Given the description of an element on the screen output the (x, y) to click on. 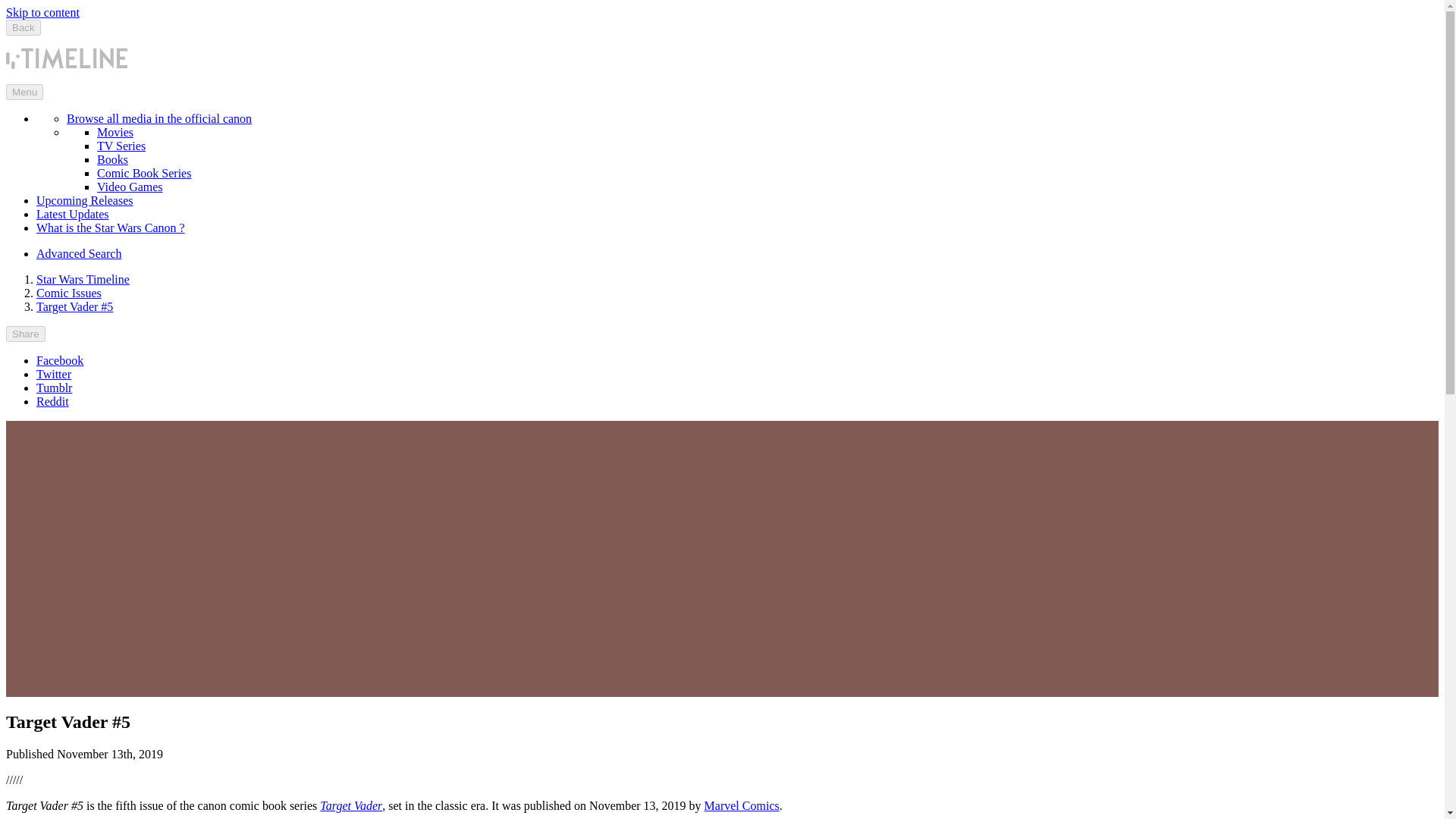
Tumblr (53, 387)
Reddit (52, 400)
Comic Book Series (143, 173)
Share this on Tumblr (53, 387)
Upcoming Releases (84, 200)
Video Games (130, 186)
Twitter (53, 373)
Share this on Facebook (59, 359)
Menu (24, 91)
Advanced Search (78, 253)
Star Wars Timeline (82, 278)
Back (22, 27)
Movies (115, 132)
Star Wars Timeline The Ultimate Star Wars Canon Timeline (66, 57)
Facebook (59, 359)
